Given the description of an element on the screen output the (x, y) to click on. 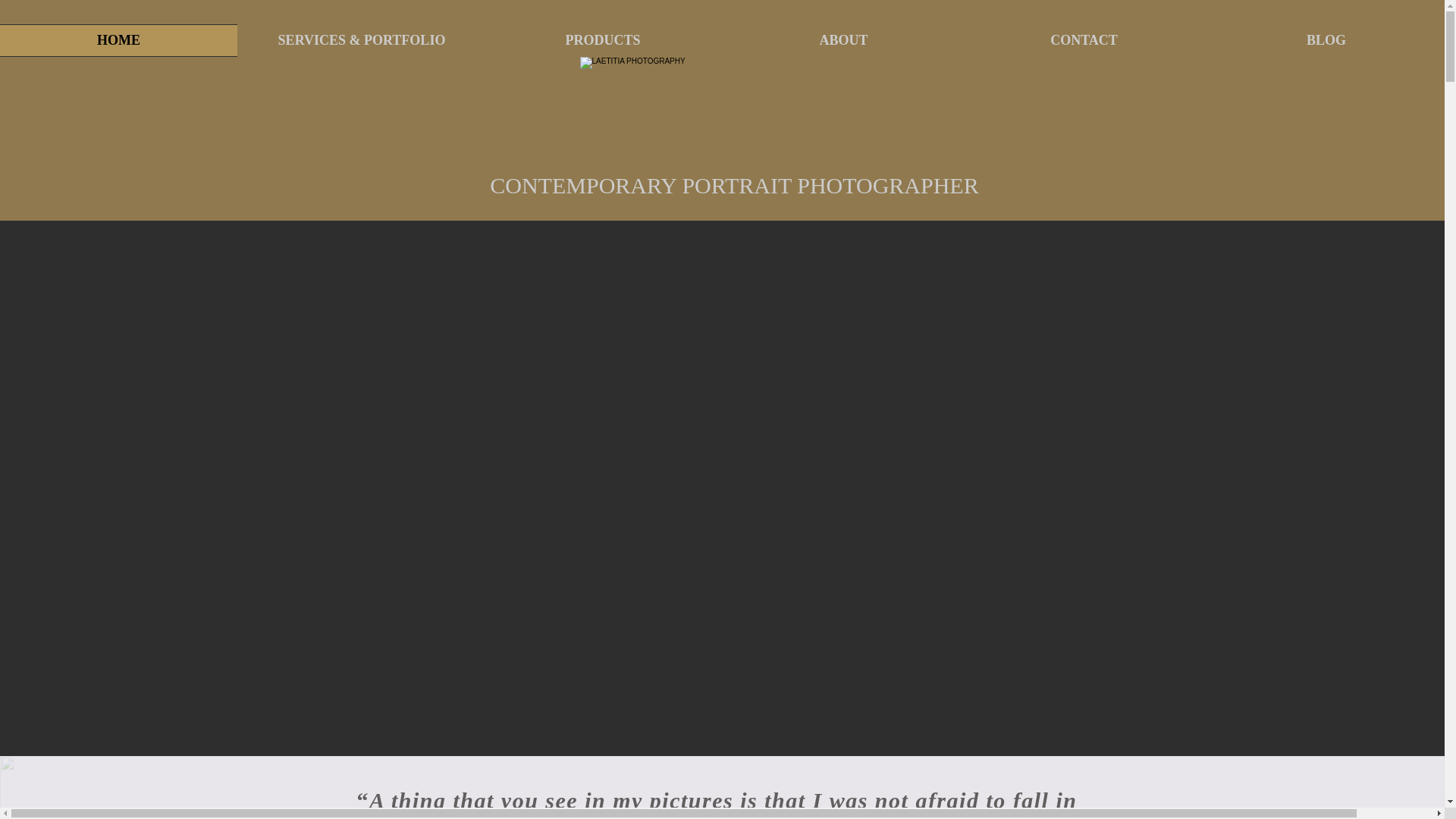
BLOG (1324, 40)
PRODUCTS (602, 40)
ABOUT (843, 40)
CONTACT (1083, 40)
Details (393, 740)
HOME (120, 40)
